Given the description of an element on the screen output the (x, y) to click on. 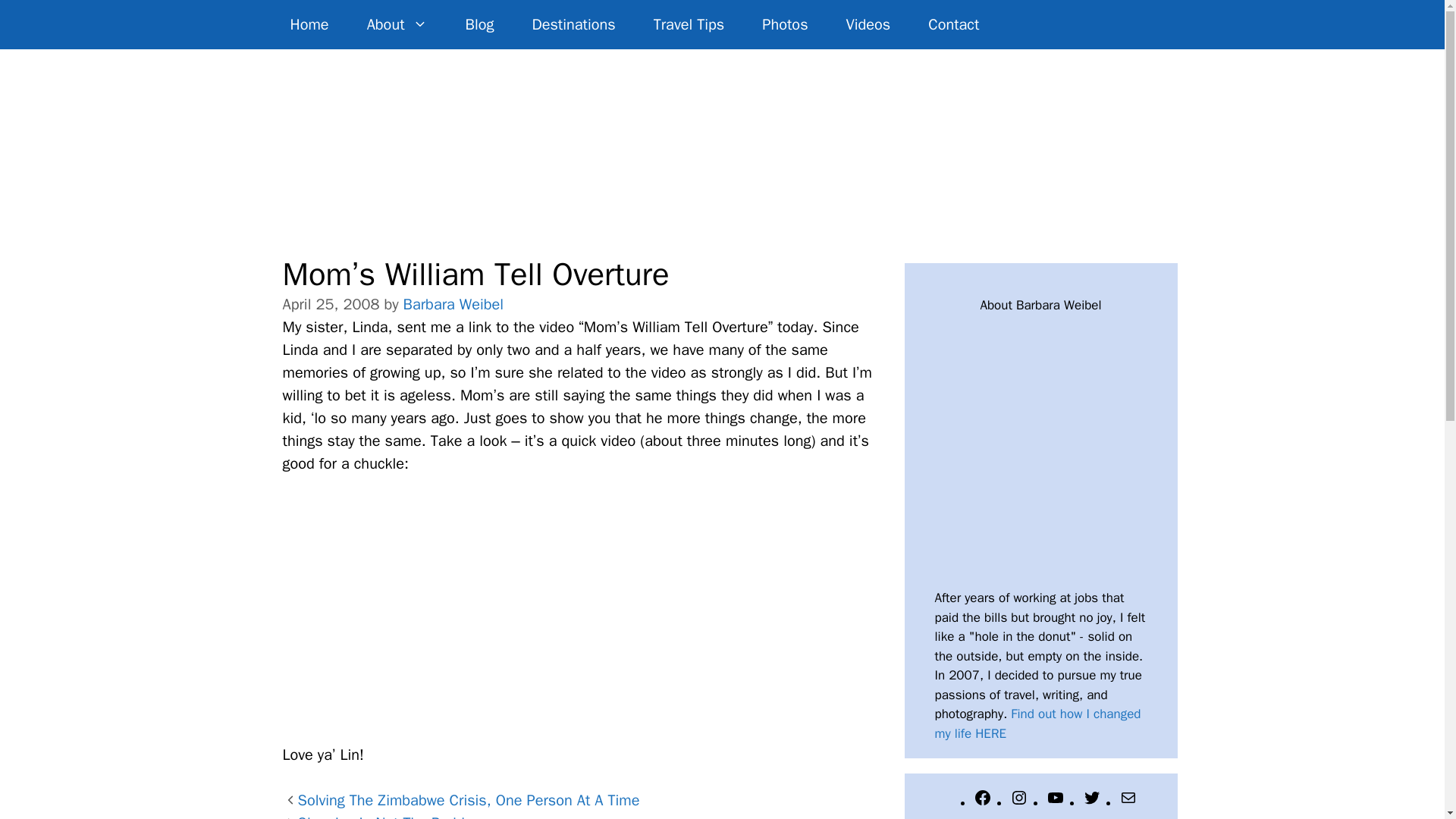
View all posts by Barbara Weibel (453, 303)
Twitter (1091, 802)
Mail (1128, 802)
Solving The Zimbabwe Crisis, One Person At A Time (468, 800)
Photos (784, 24)
Instagram (1018, 802)
YouTube (1055, 802)
Barbara Weibel (453, 303)
About (396, 24)
Contact (952, 24)
